Given the description of an element on the screen output the (x, y) to click on. 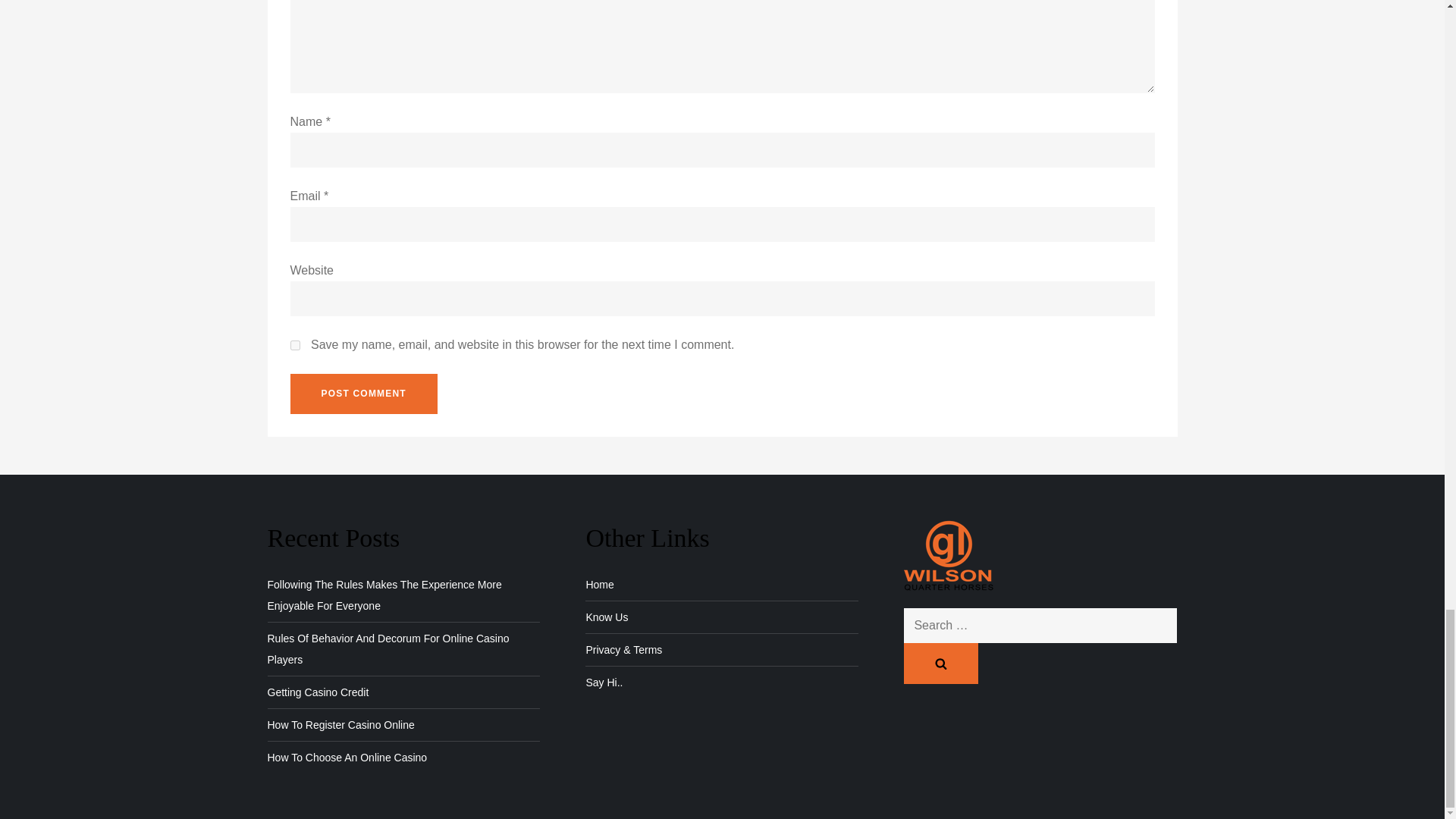
Search (941, 662)
Rules Of Behavior And Decorum For Online Casino Players (403, 649)
Post Comment (362, 393)
Home (598, 584)
How To Choose An Online Casino (346, 757)
Know Us (606, 617)
Getting Casino Credit (317, 691)
How To Register Casino Online (339, 724)
Post Comment (362, 393)
Say Hi.. (604, 681)
yes (294, 345)
